Given the description of an element on the screen output the (x, y) to click on. 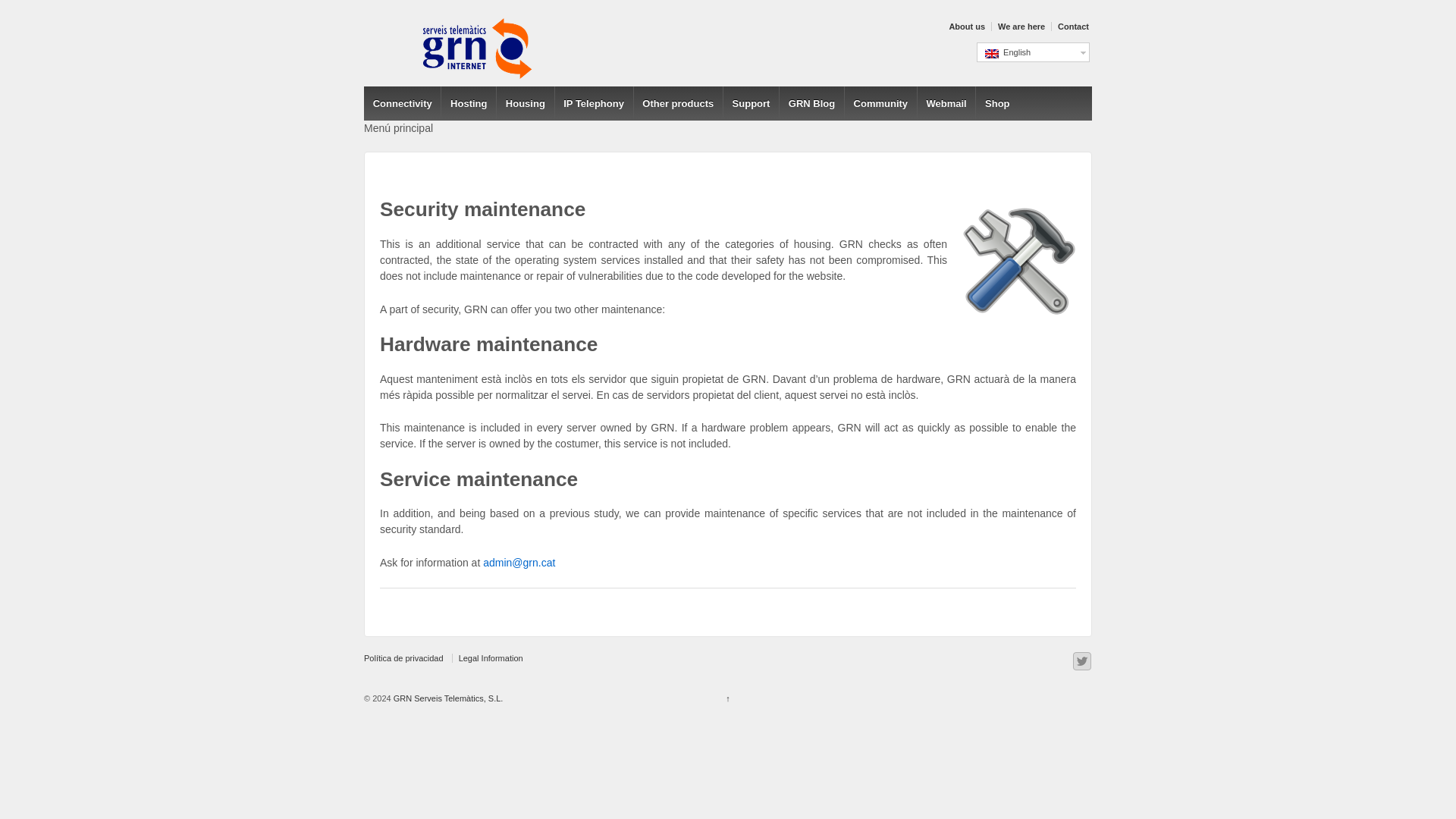
www.grn.cat (447, 697)
Support (750, 103)
Connectivity (402, 103)
Contact (1071, 26)
Housing (524, 103)
IP Telephony (593, 103)
 English (1032, 52)
Hosting (468, 103)
English (991, 53)
About us (965, 26)
